Given the description of an element on the screen output the (x, y) to click on. 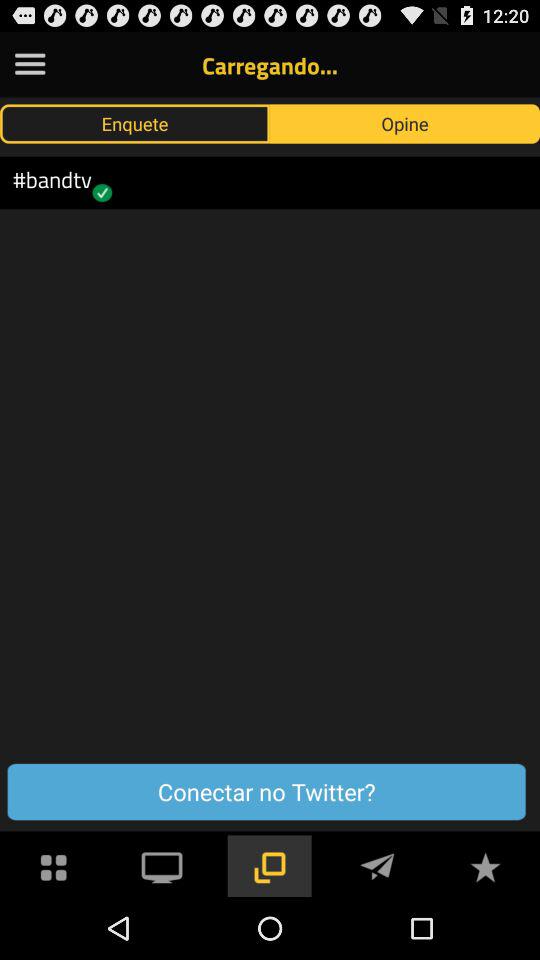
go to menu (54, 865)
